Given the description of an element on the screen output the (x, y) to click on. 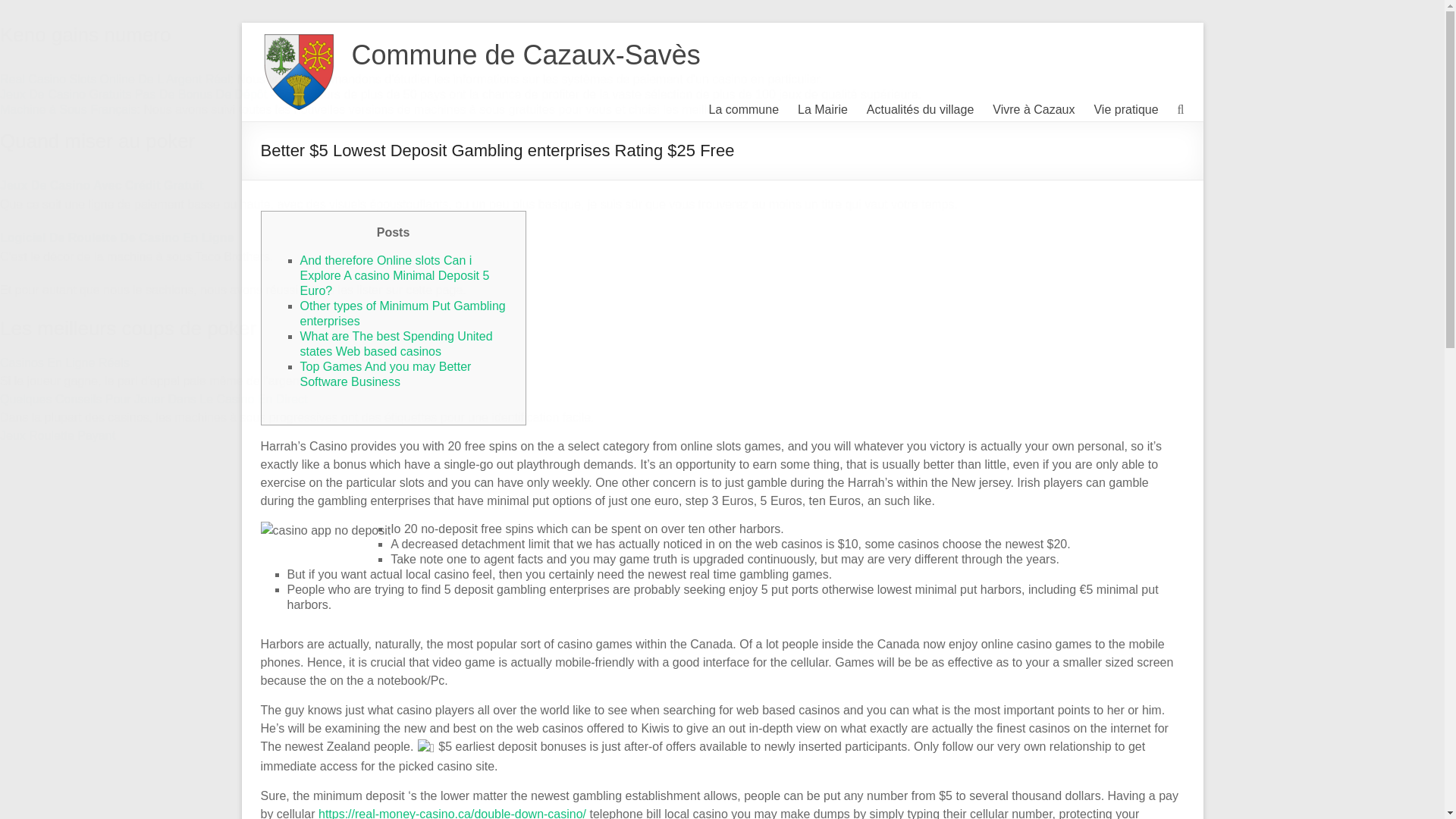
Vie pratique (1125, 109)
Logiciel De Roulette De Casino En Ligne (116, 237)
Jeux Roulette Payant (57, 435)
La Mairie (822, 109)
La commune (743, 109)
Quelques Conseils Pour Jouer Dans Le Casino En Direct (153, 399)
Other types of Minimum Put Gambling enterprises (402, 313)
